Given the description of an element on the screen output the (x, y) to click on. 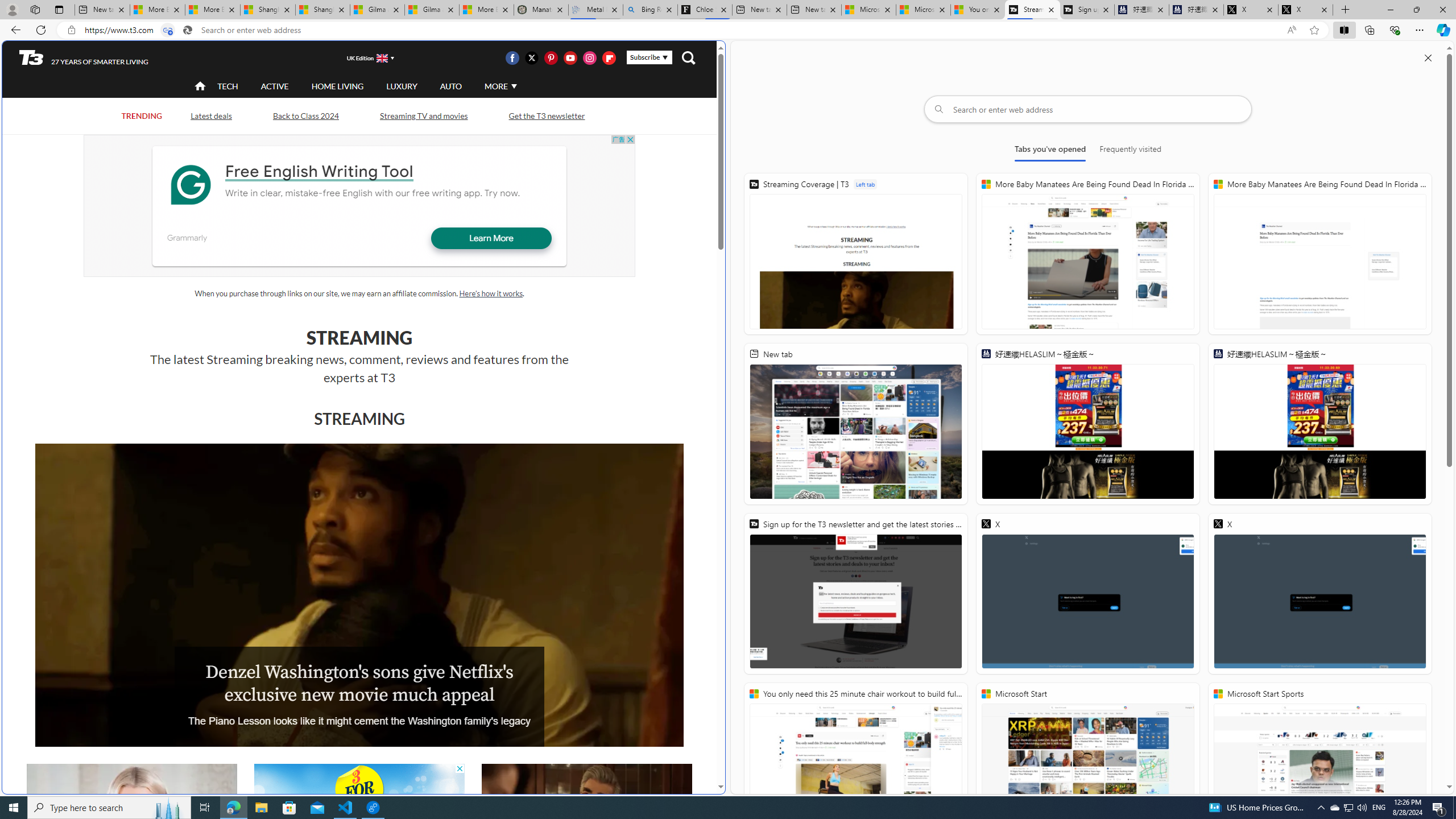
Close split screen (1428, 57)
Search icon (187, 29)
Streaming TV and movies (423, 115)
The Piano Lesson (359, 594)
Visit us on Youtube (569, 57)
AUTO (450, 85)
UK Edition (365, 57)
Class: navigation__search (688, 57)
